Given the description of an element on the screen output the (x, y) to click on. 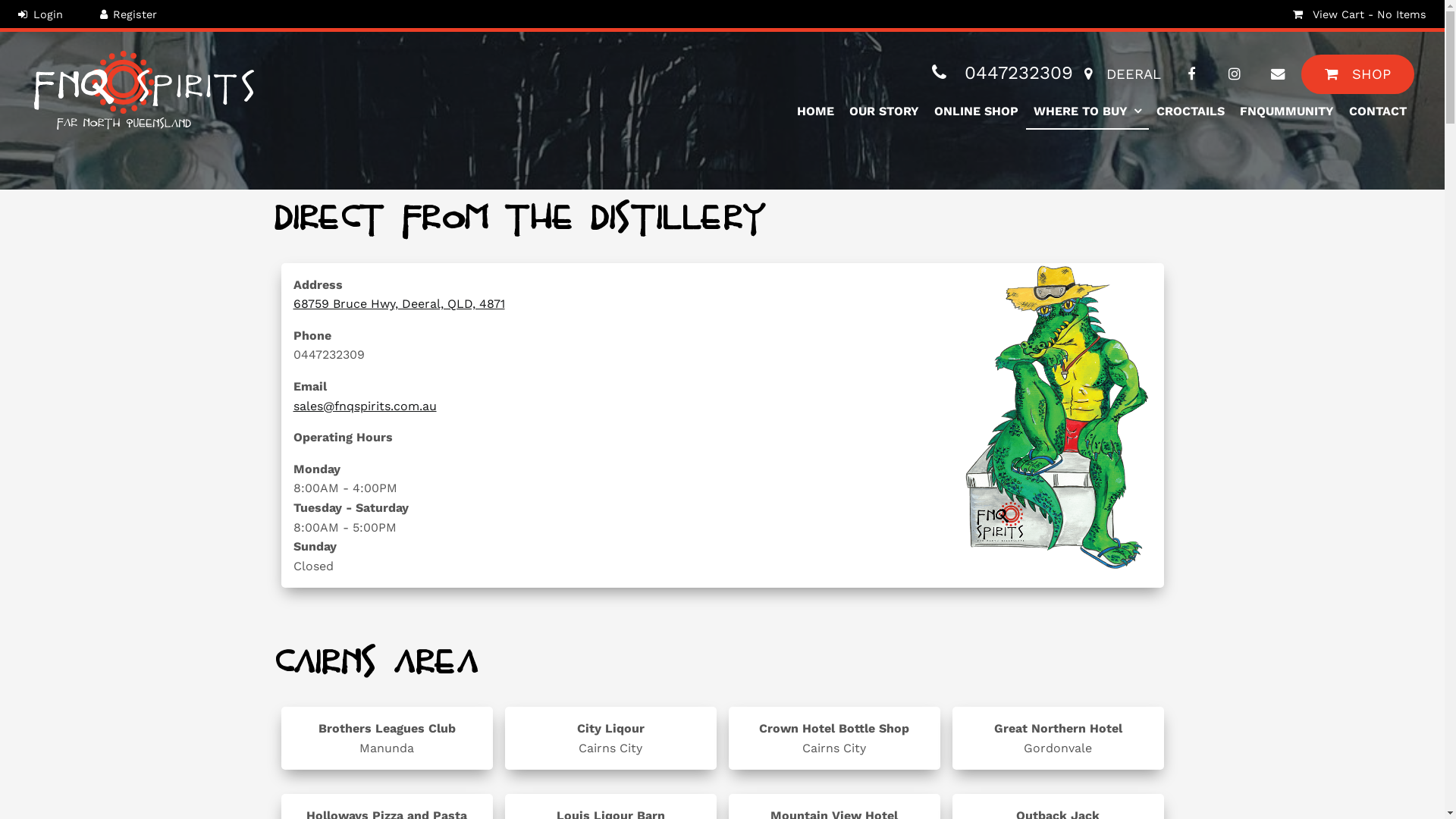
68759 Bruce Hwy, Deeral, QLD, 4871 Element type: text (398, 303)
View Cart - No Items Element type: text (1359, 14)
ONLINE SHOP Element type: text (976, 112)
FNQUMMUNITY Element type: text (1286, 112)
sales@fnqspirits.com.au Element type: text (364, 405)
CONTACT Element type: text (1377, 112)
HOME Element type: text (815, 112)
OUR STORY Element type: text (883, 112)
CROCTAILS Element type: text (1190, 112)
SHOP Element type: text (1357, 74)
DEERAL Element type: text (1122, 73)
WHERE TO BUY Element type: text (1087, 112)
